Given the description of an element on the screen output the (x, y) to click on. 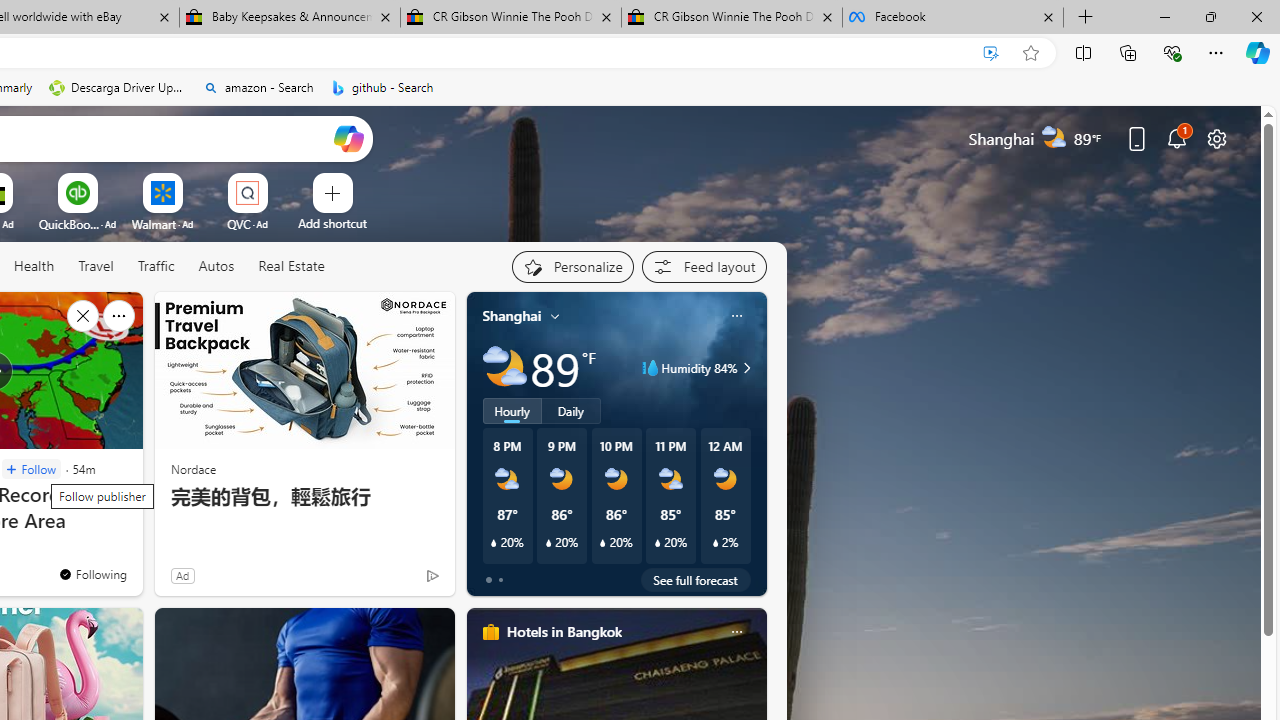
Hourly (511, 411)
amazon - Search (258, 88)
